Given the description of an element on the screen output the (x, y) to click on. 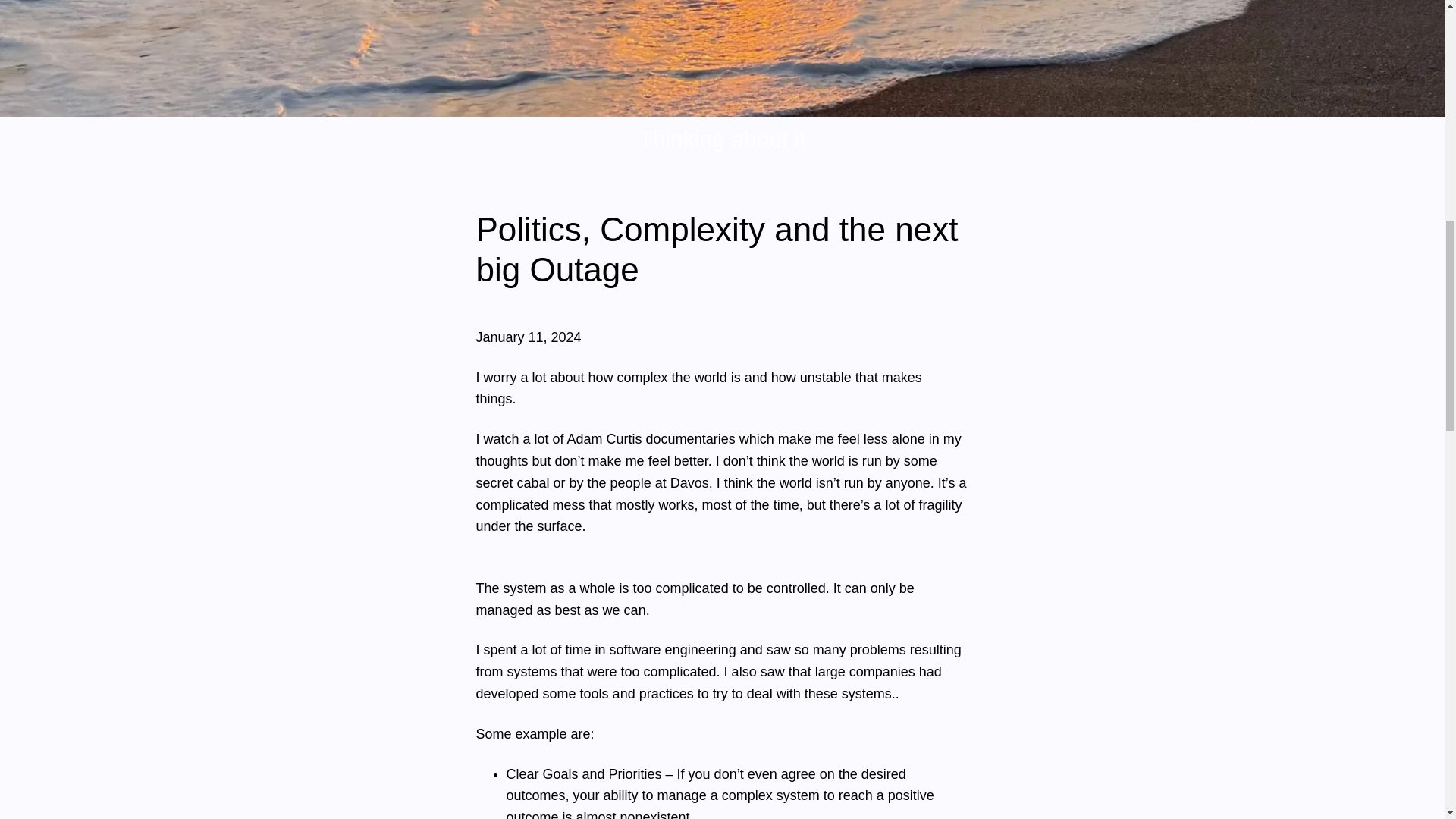
Thinking about it (722, 138)
